Given the description of an element on the screen output the (x, y) to click on. 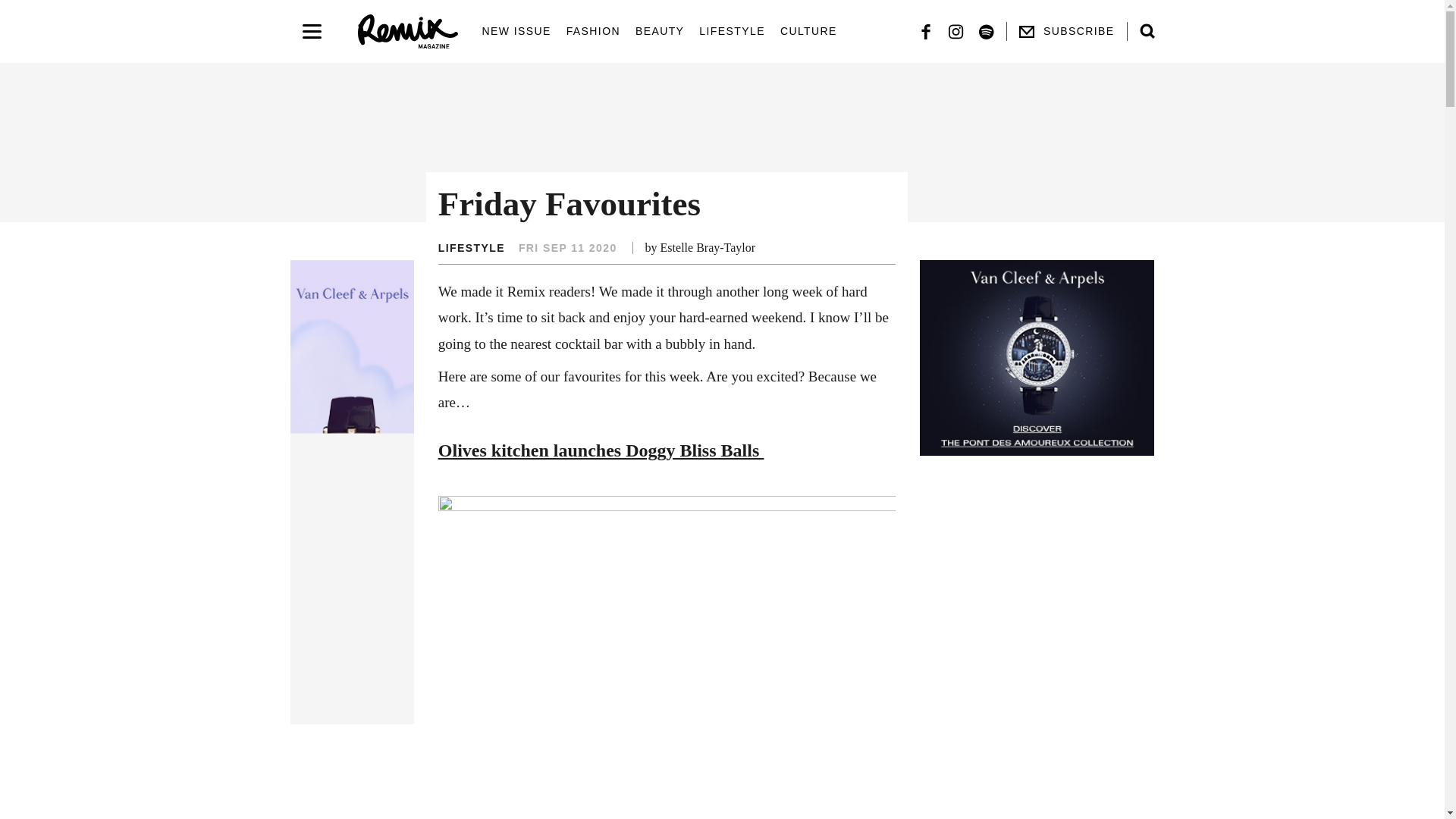
Olives kitchen launches Doggy Bliss Balls  (600, 450)
SUBSCRIBE (1067, 31)
VCA MREC July 2024 (1037, 357)
VCA Sklyscraper july 2024 (351, 491)
LIFESTYLE (471, 247)
CULTURE (808, 31)
LIFESTYLE (731, 31)
FASHION (593, 31)
NEW ISSUE (516, 31)
BEAUTY (659, 31)
